Given the description of an element on the screen output the (x, y) to click on. 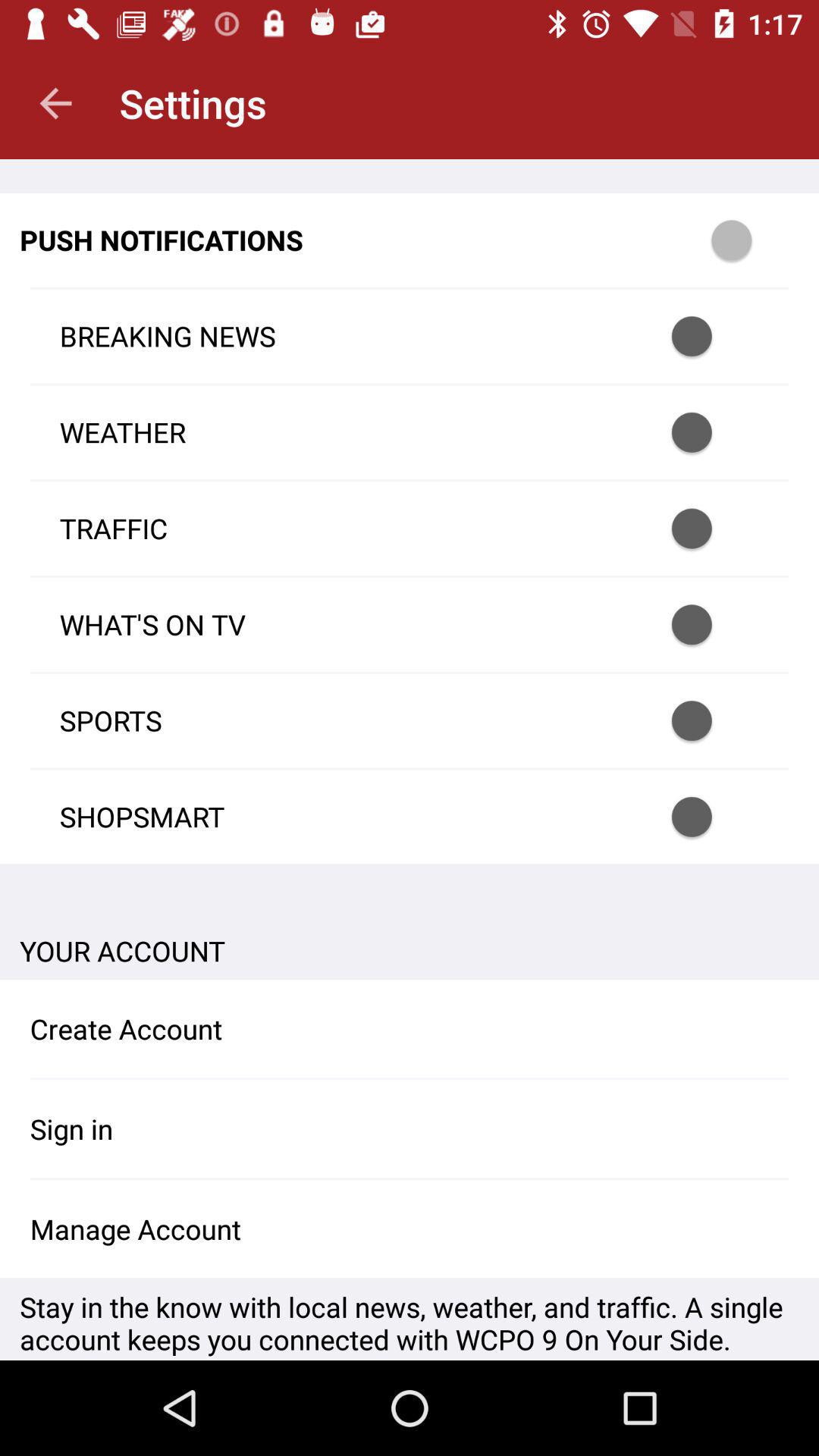
turn on button (711, 624)
